Given the description of an element on the screen output the (x, y) to click on. 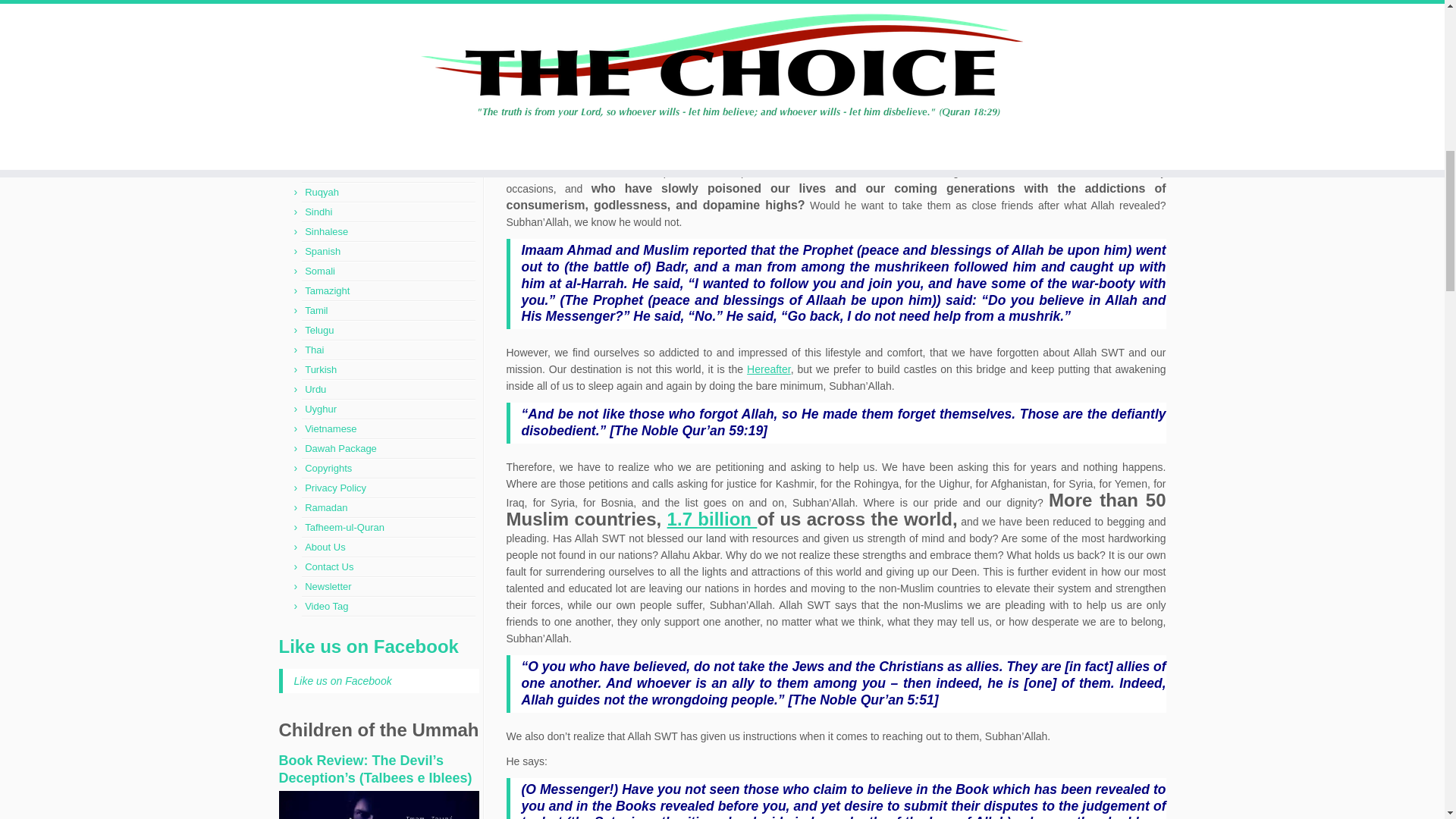
Ruqyah (321, 192)
Kannada (323, 53)
Korean (320, 14)
Malayalam (328, 73)
Oromo (319, 93)
Punjabi (320, 152)
Portuguese (329, 132)
Pashto (319, 112)
Russian (322, 172)
